Given the description of an element on the screen output the (x, y) to click on. 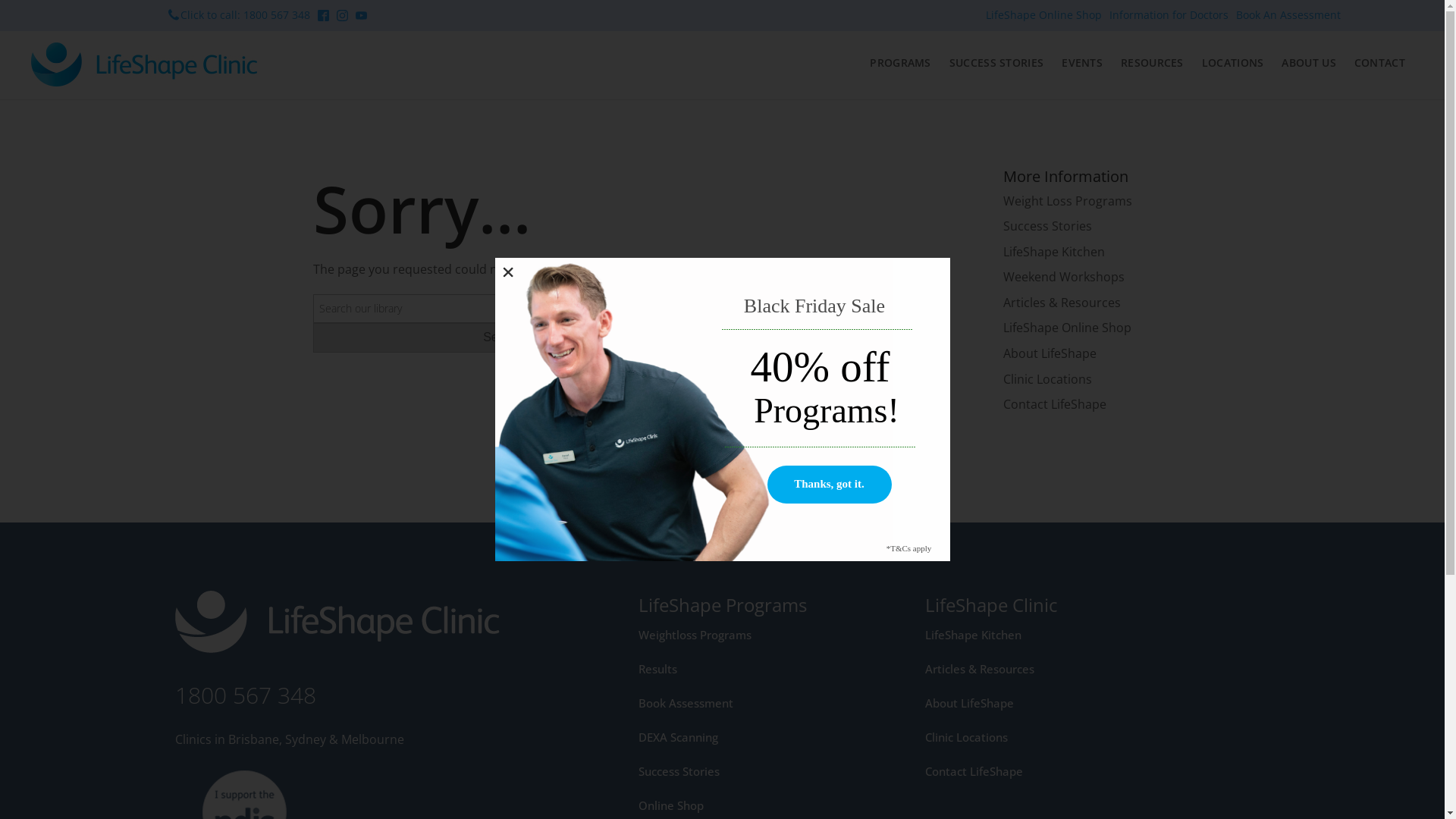
Success Stories Element type: text (714, 770)
Online Shop Element type: text (714, 804)
Articles & Resources Element type: text (979, 668)
LifeShape Kitchen Element type: text (979, 634)
Weekend Workshops Element type: text (1062, 277)
About LifeShape Element type: text (1048, 354)
Contact LifeShape Element type: text (1053, 404)
Information for Doctors Element type: text (1168, 14)
Weight Loss Programs Element type: text (1066, 200)
Success Stories Element type: text (1046, 226)
LOCATIONS Element type: text (1232, 62)
Book Assessment Element type: text (714, 702)
Clinic Locations Element type: text (1046, 379)
CONTACT Element type: text (1379, 62)
About LifeShape Element type: text (979, 702)
LifeShape Kitchen Element type: text (1053, 252)
EVENTS Element type: text (1082, 62)
1800 567 348 Element type: text (245, 695)
ABOUT US Element type: text (1308, 62)
LifeShape Online Shop Element type: text (1066, 328)
SUCCESS STORIES Element type: text (996, 62)
Thanks, got it. Element type: text (829, 484)
Articles & Resources Element type: text (1061, 303)
Weightloss Programs Element type: text (714, 634)
RESOURCES Element type: text (1152, 62)
Book An Assessment Element type: text (1288, 14)
Search Element type: text (501, 337)
PROGRAMS Element type: text (900, 62)
DEXA Scanning Element type: text (714, 736)
Results Element type: text (714, 668)
Clinic Locations Element type: text (979, 736)
Click to call: 1800 567 348 Element type: text (241, 14)
Contact LifeShape Element type: text (979, 770)
